Given the description of an element on the screen output the (x, y) to click on. 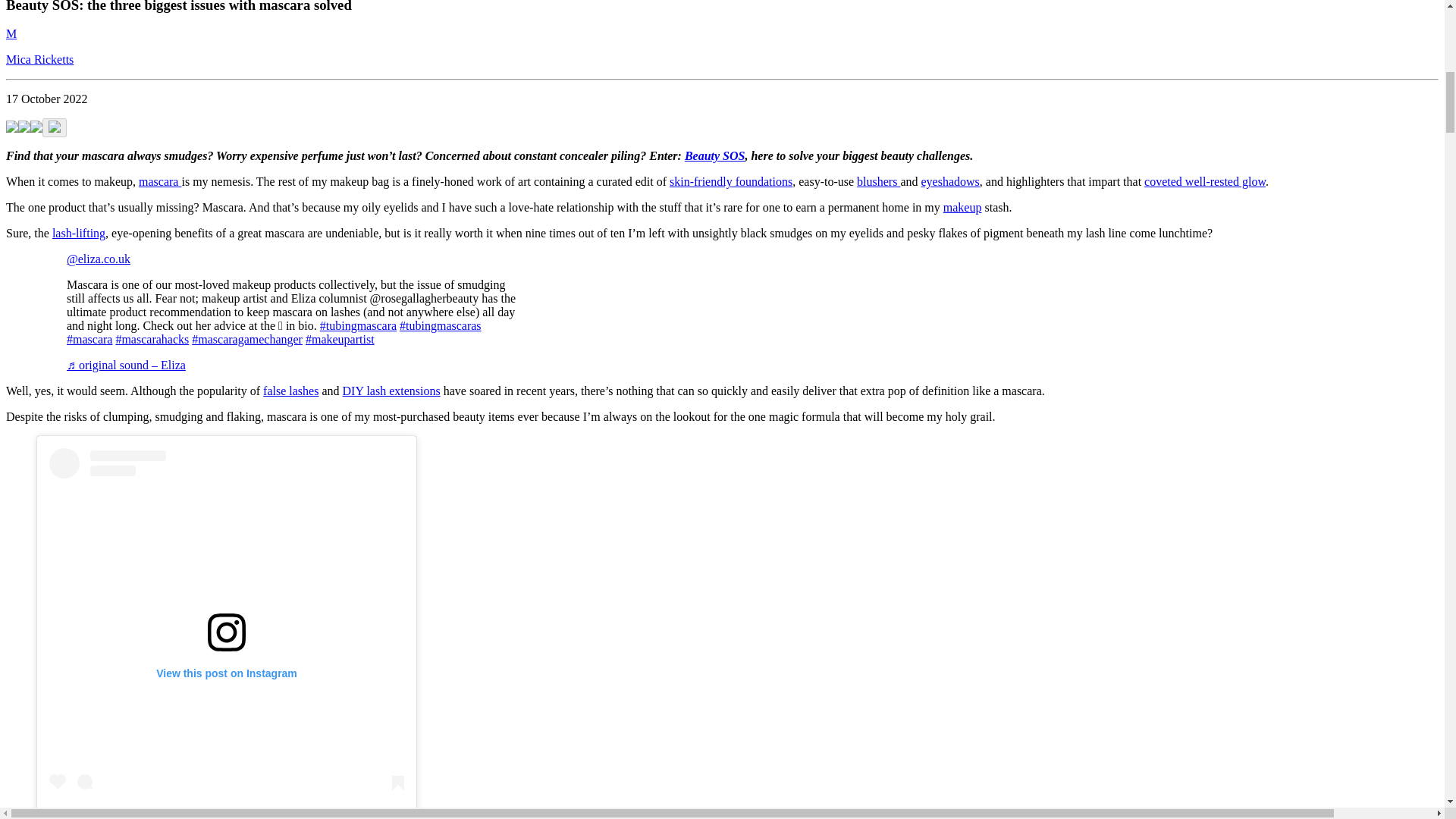
tubingmascara (358, 325)
mascara (89, 338)
makeupartist (339, 338)
mascaragamechanger (247, 338)
tubingmascaras (439, 325)
mascarahacks (152, 338)
